Given the description of an element on the screen output the (x, y) to click on. 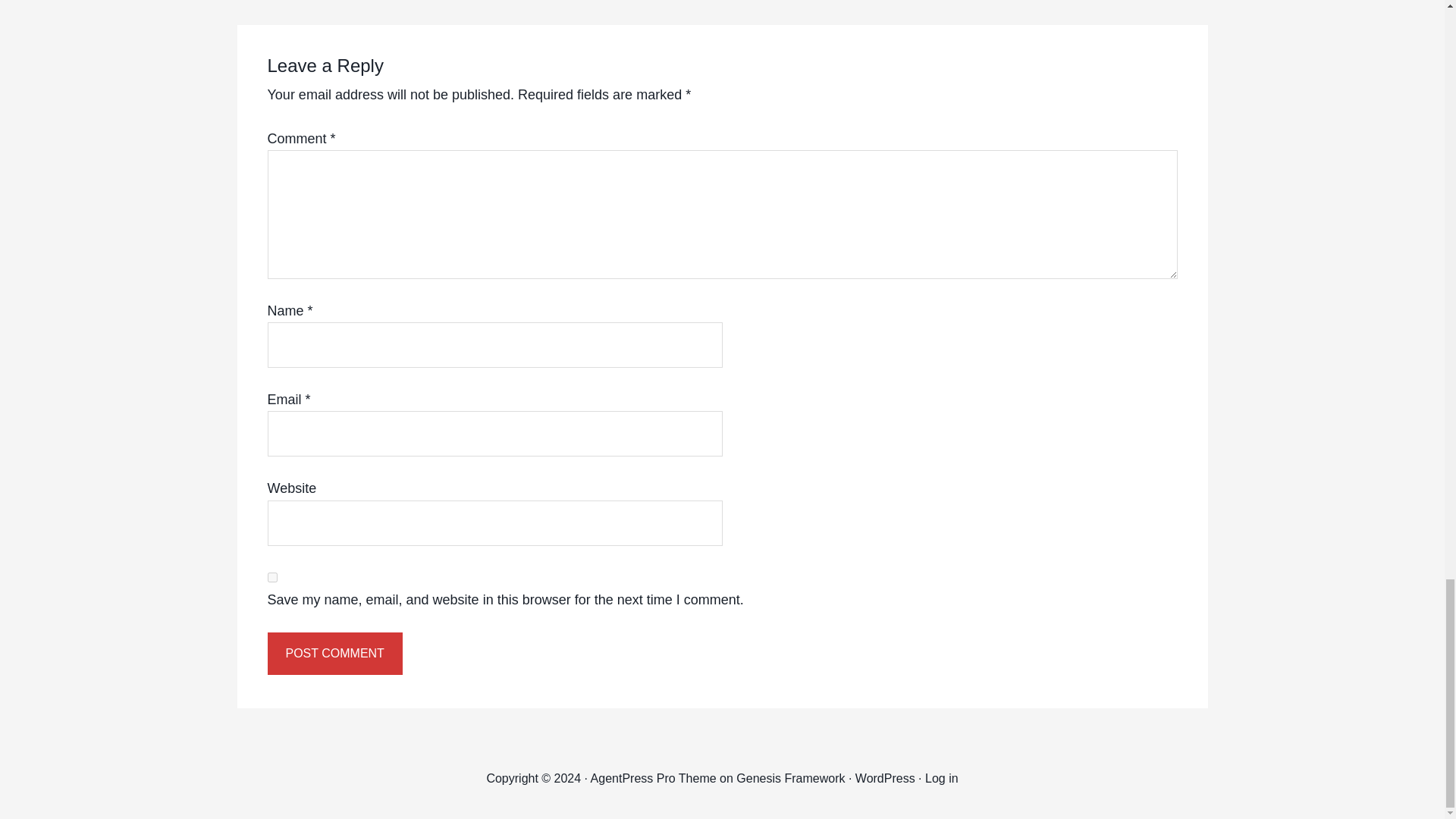
Log in (941, 778)
Post Comment (333, 653)
yes (271, 577)
WordPress (885, 778)
Genesis Framework (790, 778)
Post Comment (333, 653)
AgentPress Pro Theme (653, 778)
